Given the description of an element on the screen output the (x, y) to click on. 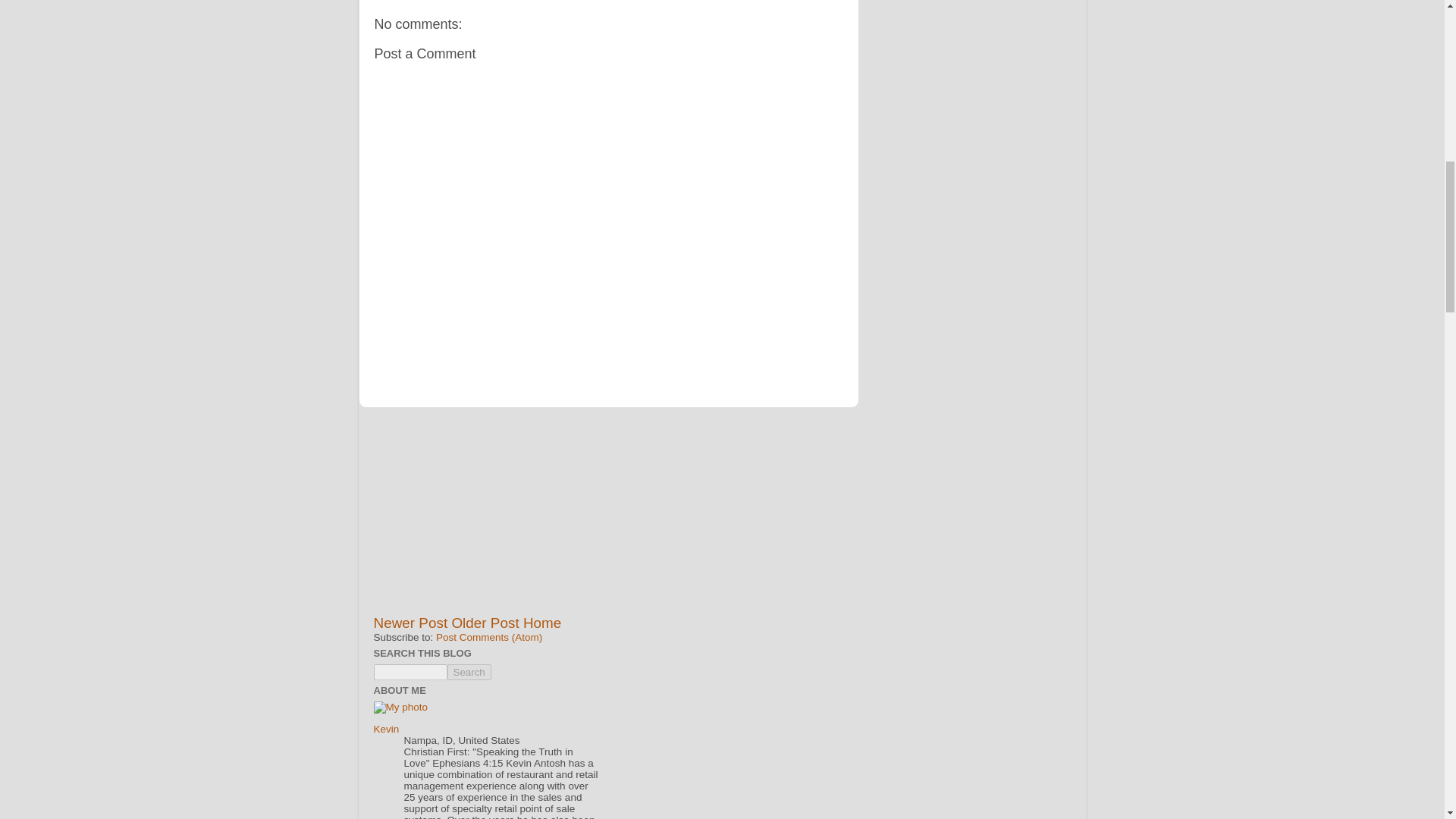
Search (469, 672)
Search (469, 672)
Newer Post (409, 622)
search (469, 672)
Search (469, 672)
Older Post (484, 622)
Newer Post (409, 622)
Kevin (385, 728)
Home (541, 622)
Advertisement (485, 517)
search (409, 672)
Older Post (484, 622)
